Given the description of an element on the screen output the (x, y) to click on. 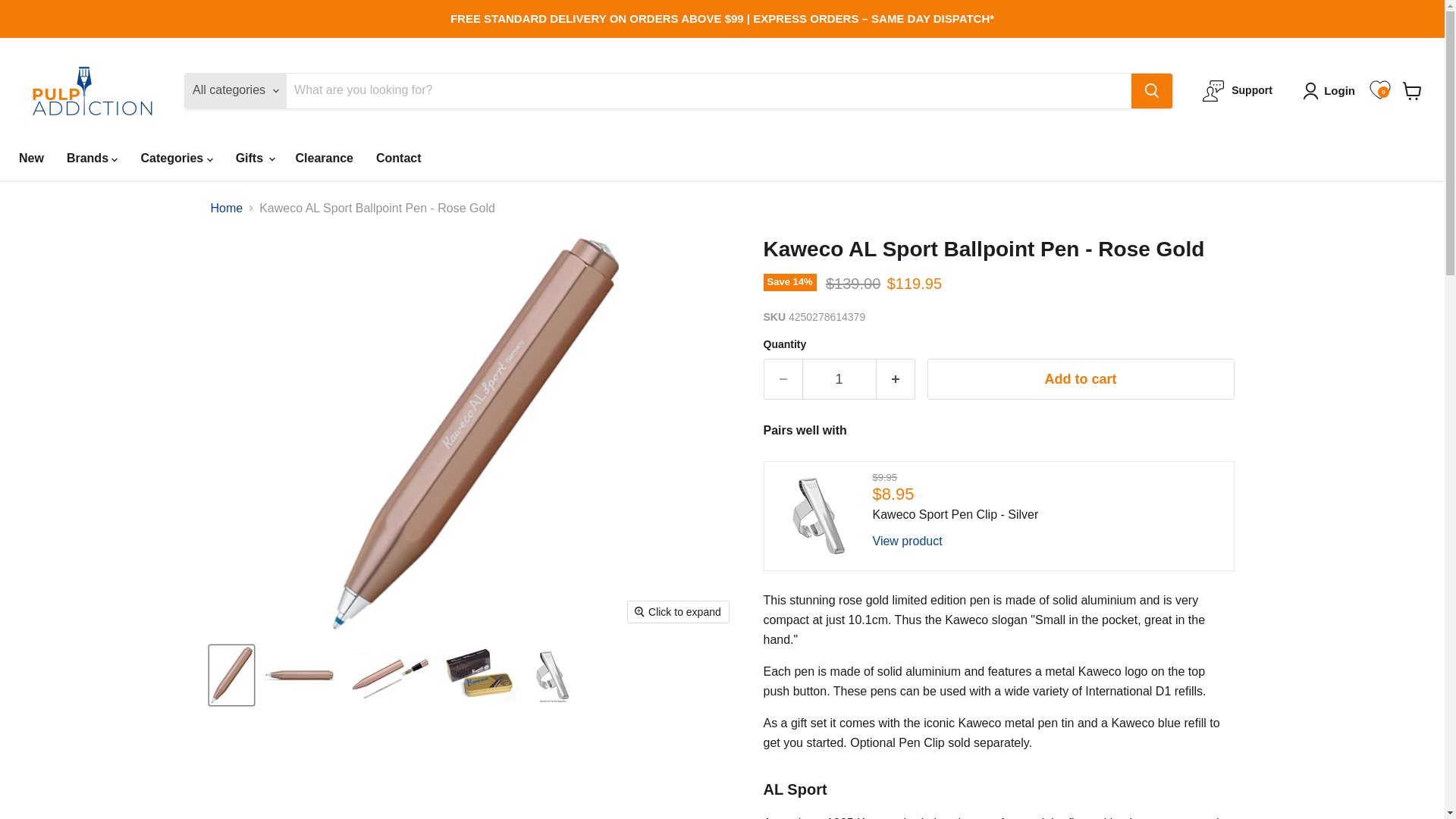
1 (839, 379)
Support (1237, 90)
View cart (1411, 90)
New (31, 158)
Login (1332, 90)
0 (1379, 90)
